Given the description of an element on the screen output the (x, y) to click on. 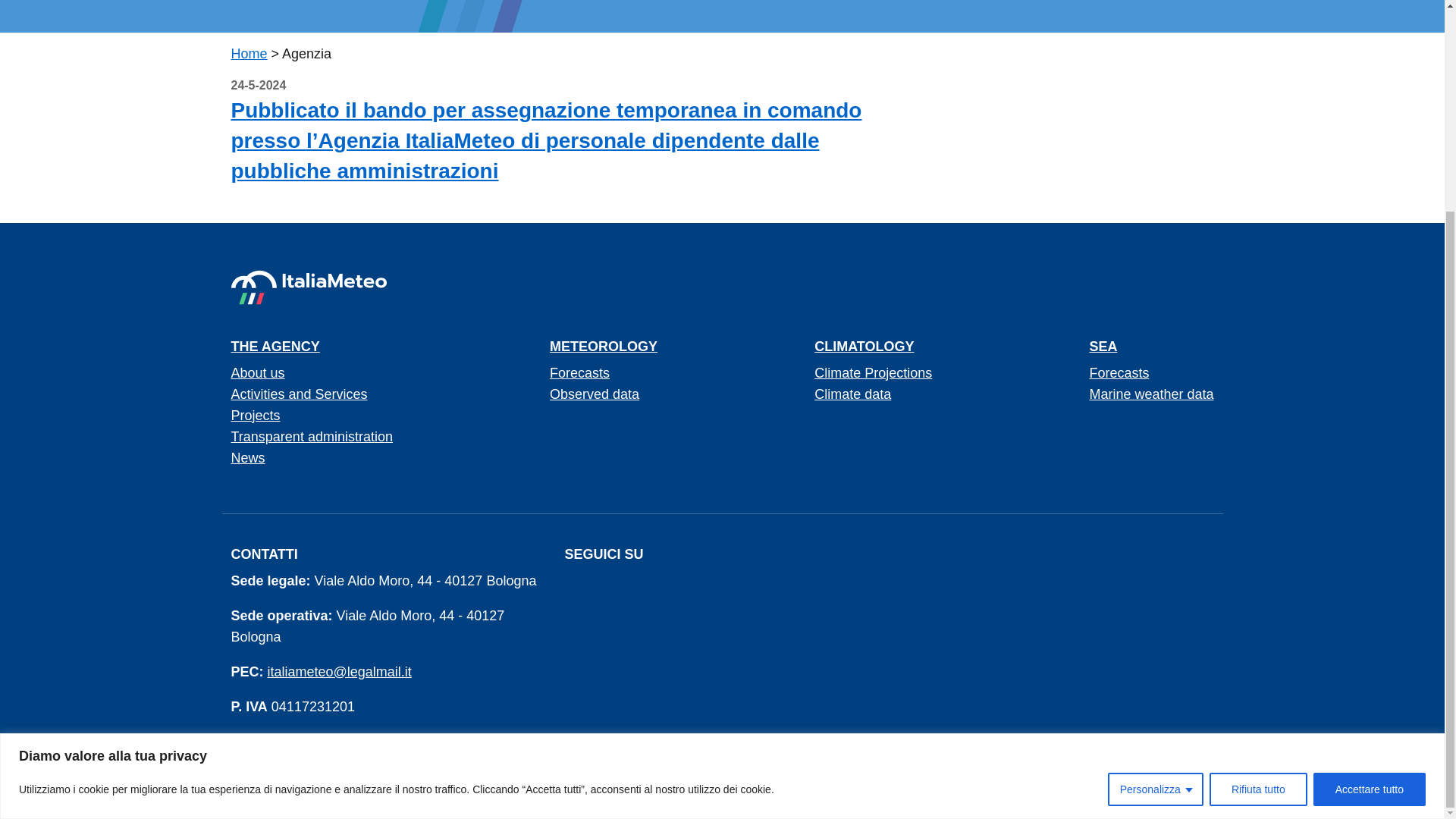
Accettare tutto (1369, 512)
Personalizza (1156, 512)
Codice Fiscale (242, 740)
Rifiuta tutto (1258, 512)
Partita IVA (248, 706)
